Given the description of an element on the screen output the (x, y) to click on. 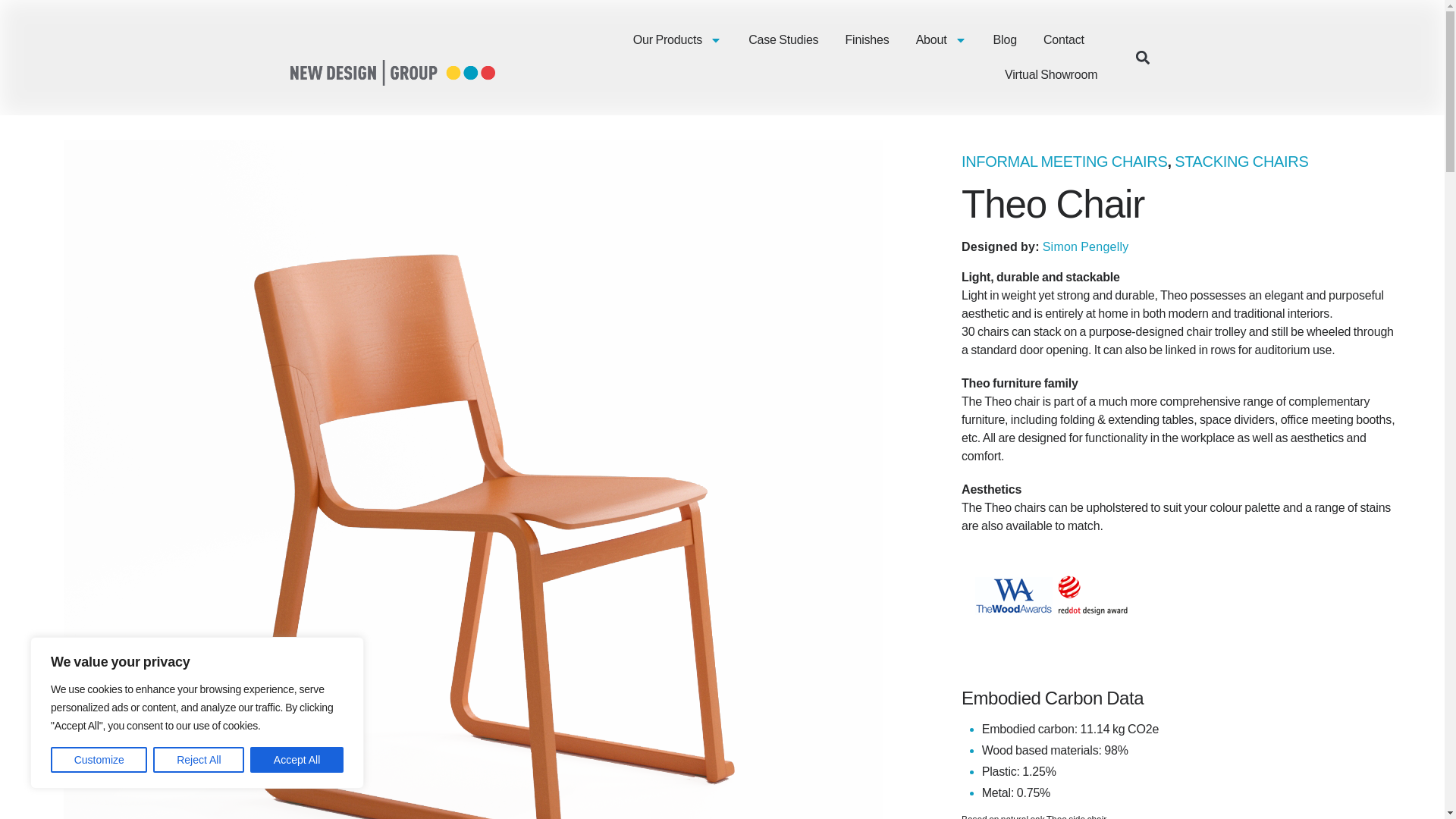
Finishes (866, 39)
About (940, 39)
Customize (98, 759)
Reject All (198, 759)
Contact (1063, 39)
Accept All (296, 759)
Virtual Showroom (1050, 74)
Case Studies (783, 39)
Our Products (677, 39)
